Given the description of an element on the screen output the (x, y) to click on. 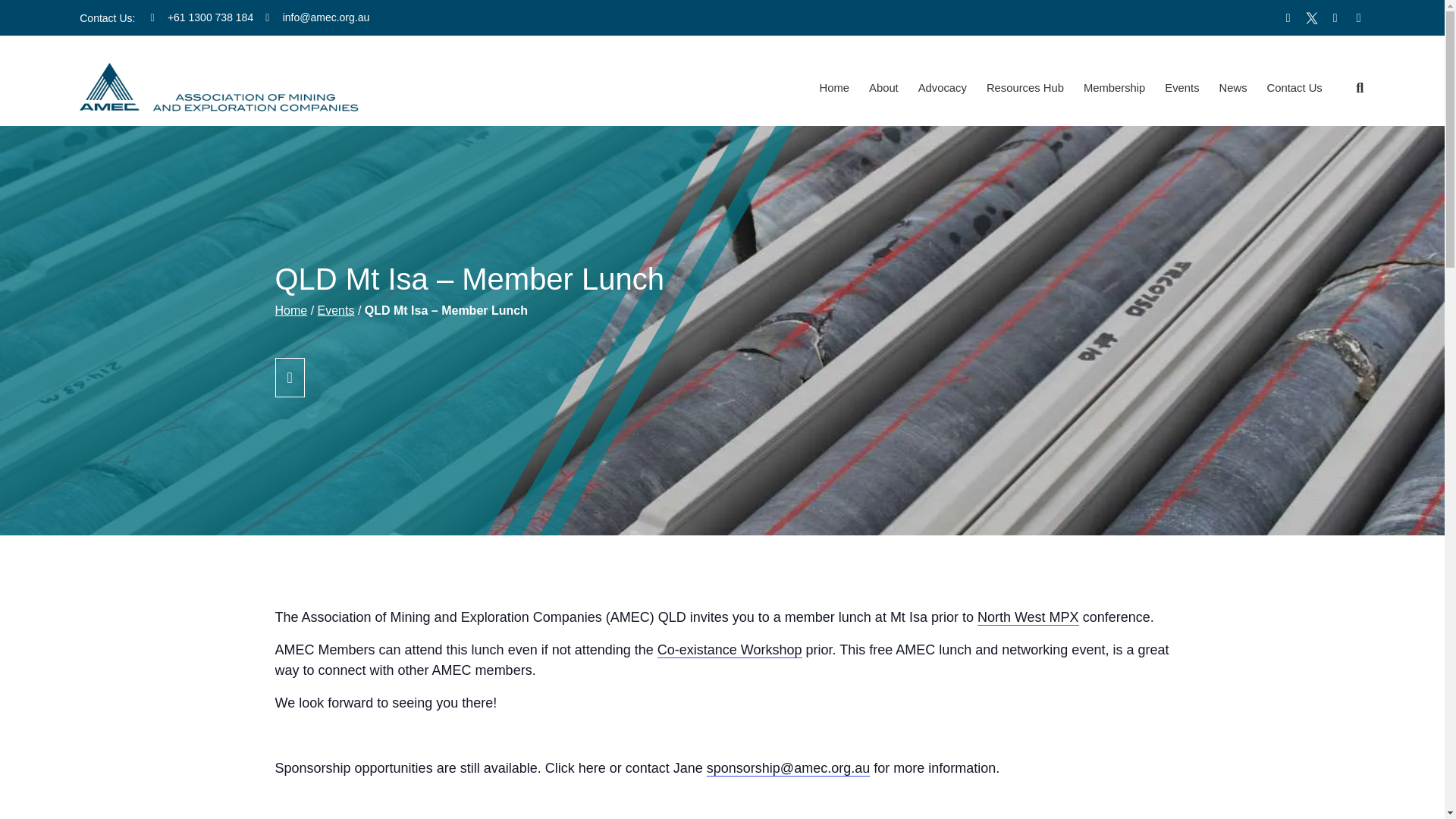
Membership (1114, 87)
Resources Hub (1025, 87)
Advocacy (942, 87)
